Given the description of an element on the screen output the (x, y) to click on. 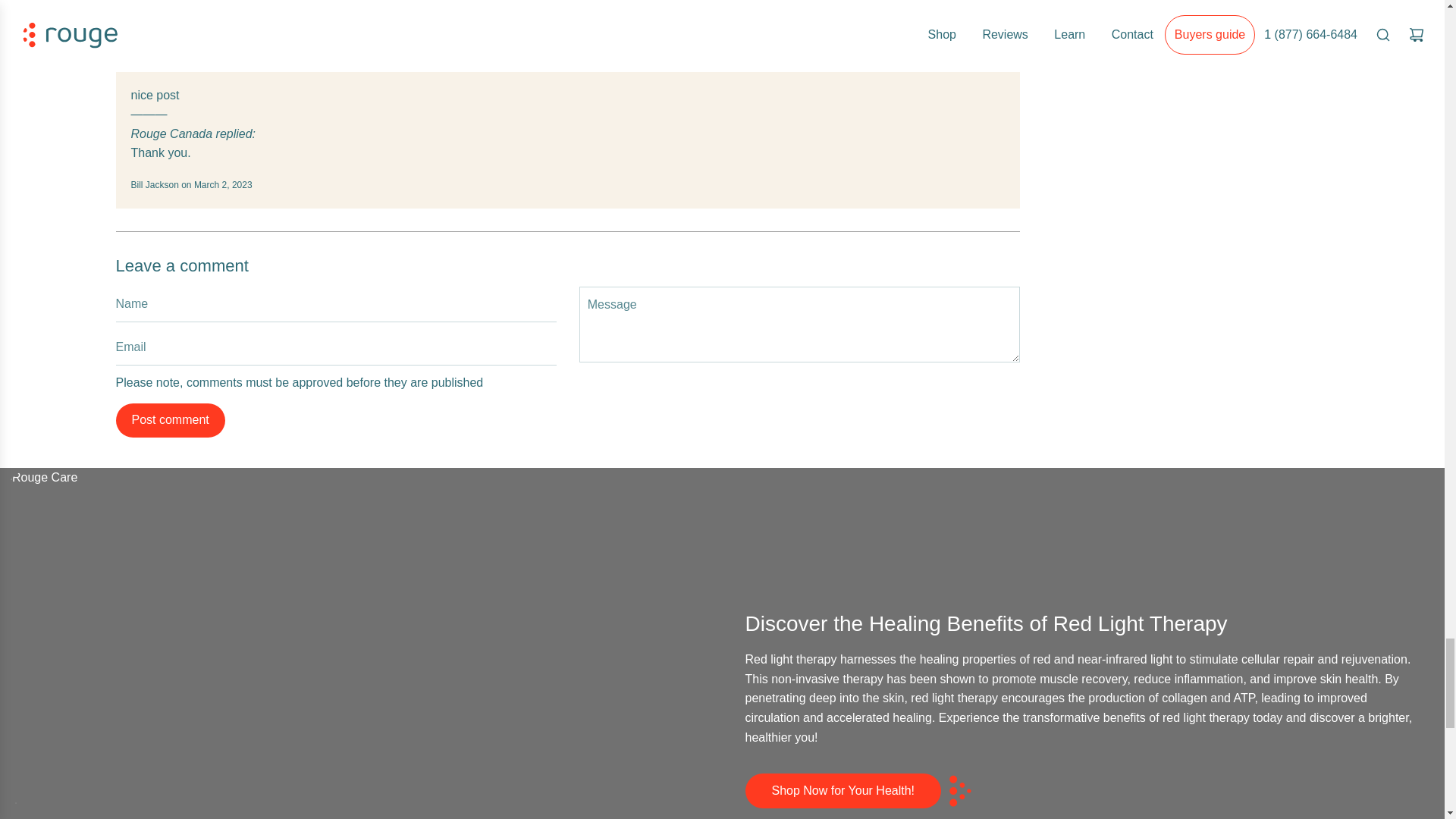
Post comment (169, 420)
